Given the description of an element on the screen output the (x, y) to click on. 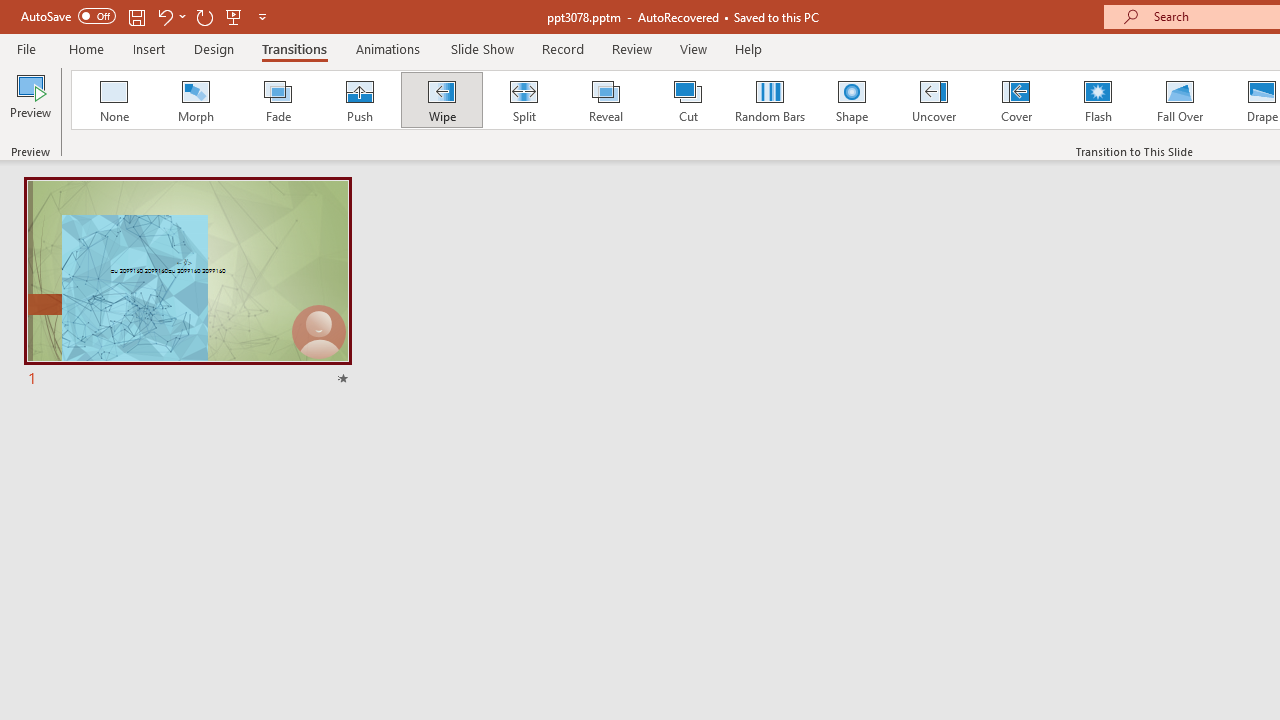
None (113, 100)
Fall Over (1180, 100)
Cover (1016, 100)
Wipe (441, 100)
Cut (687, 100)
